Given the description of an element on the screen output the (x, y) to click on. 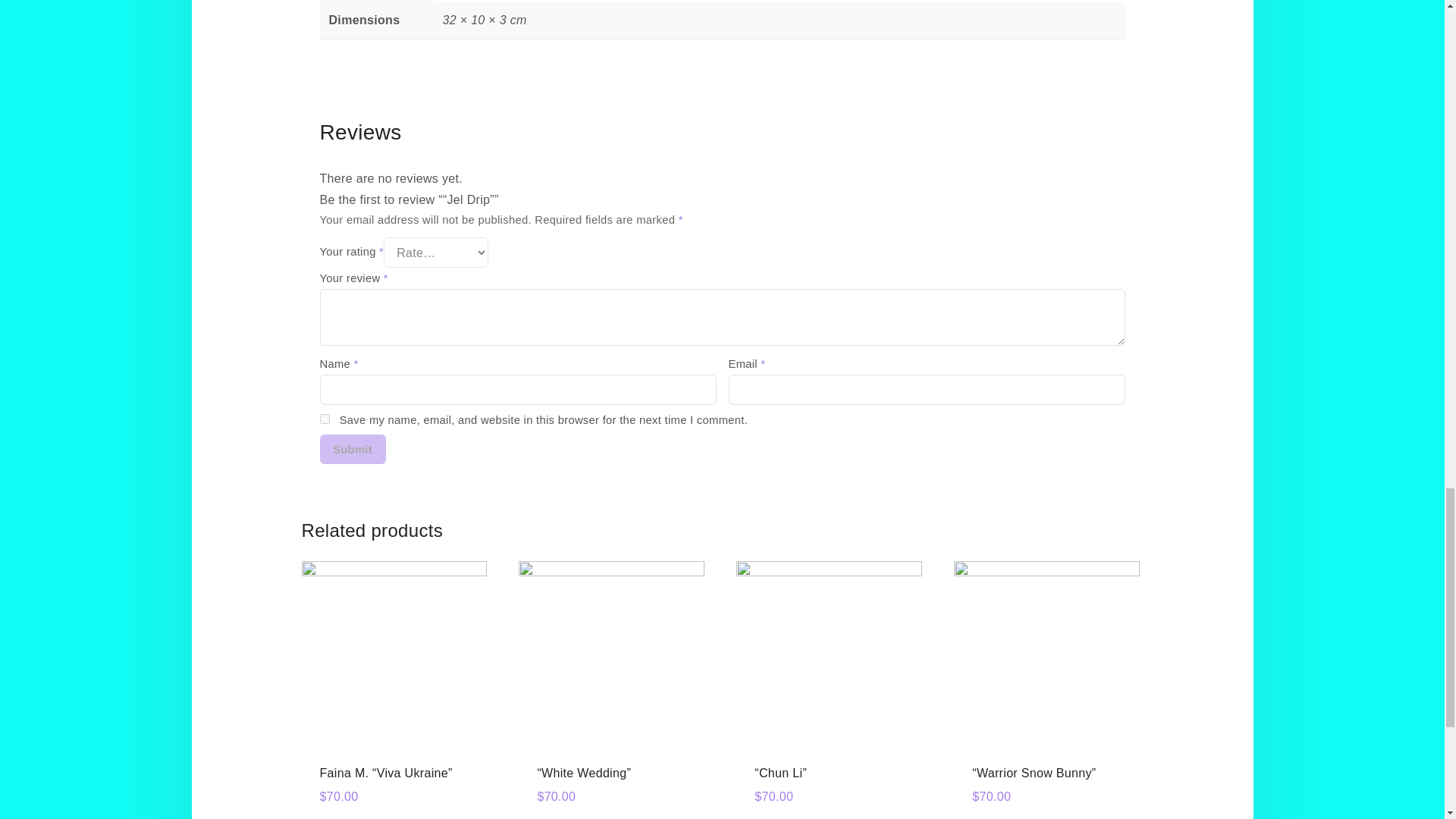
Submit (352, 449)
yes (325, 419)
Submit (352, 449)
